Given the description of an element on the screen output the (x, y) to click on. 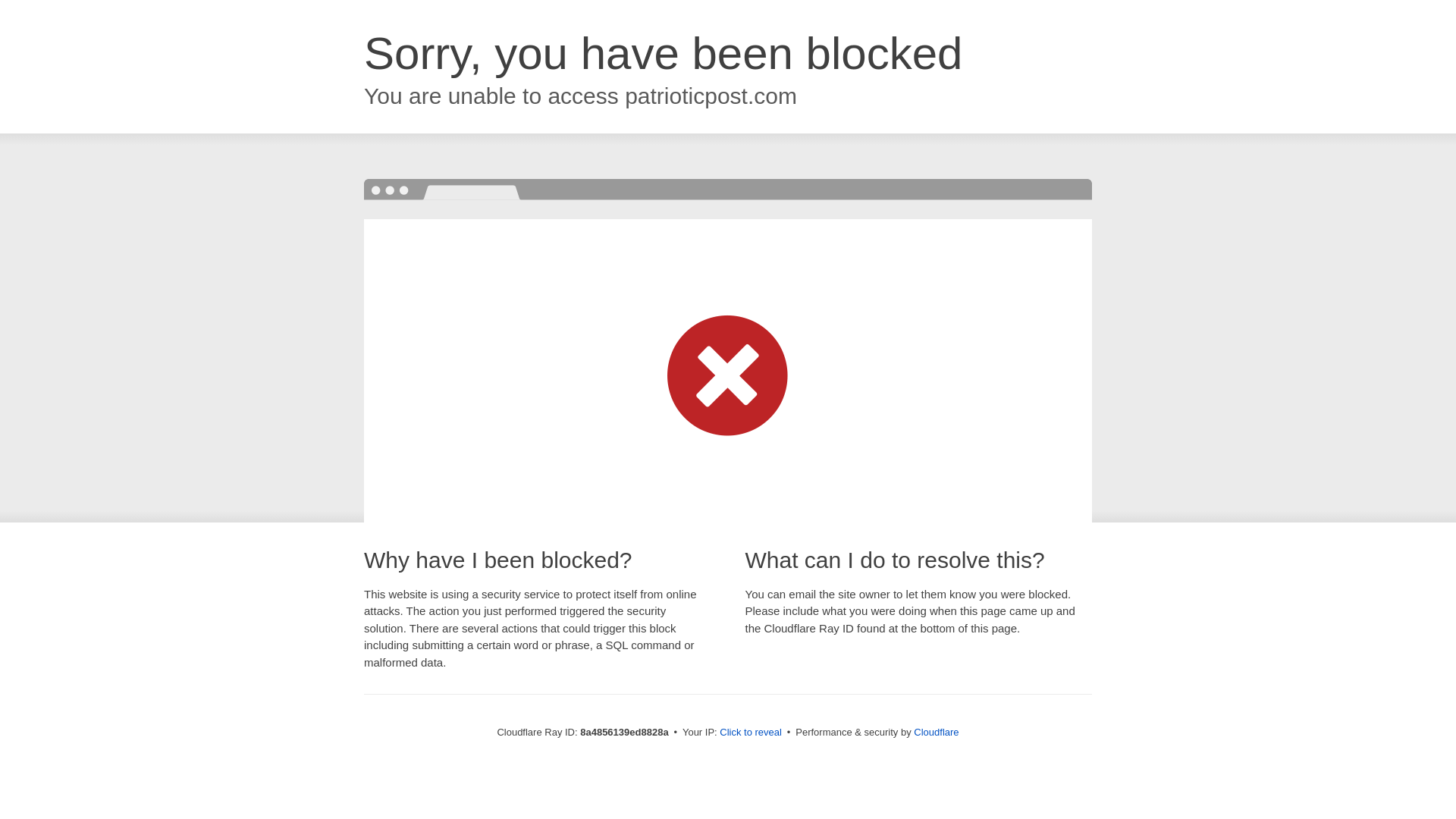
Cloudflare (936, 731)
Click to reveal (750, 732)
